Given the description of an element on the screen output the (x, y) to click on. 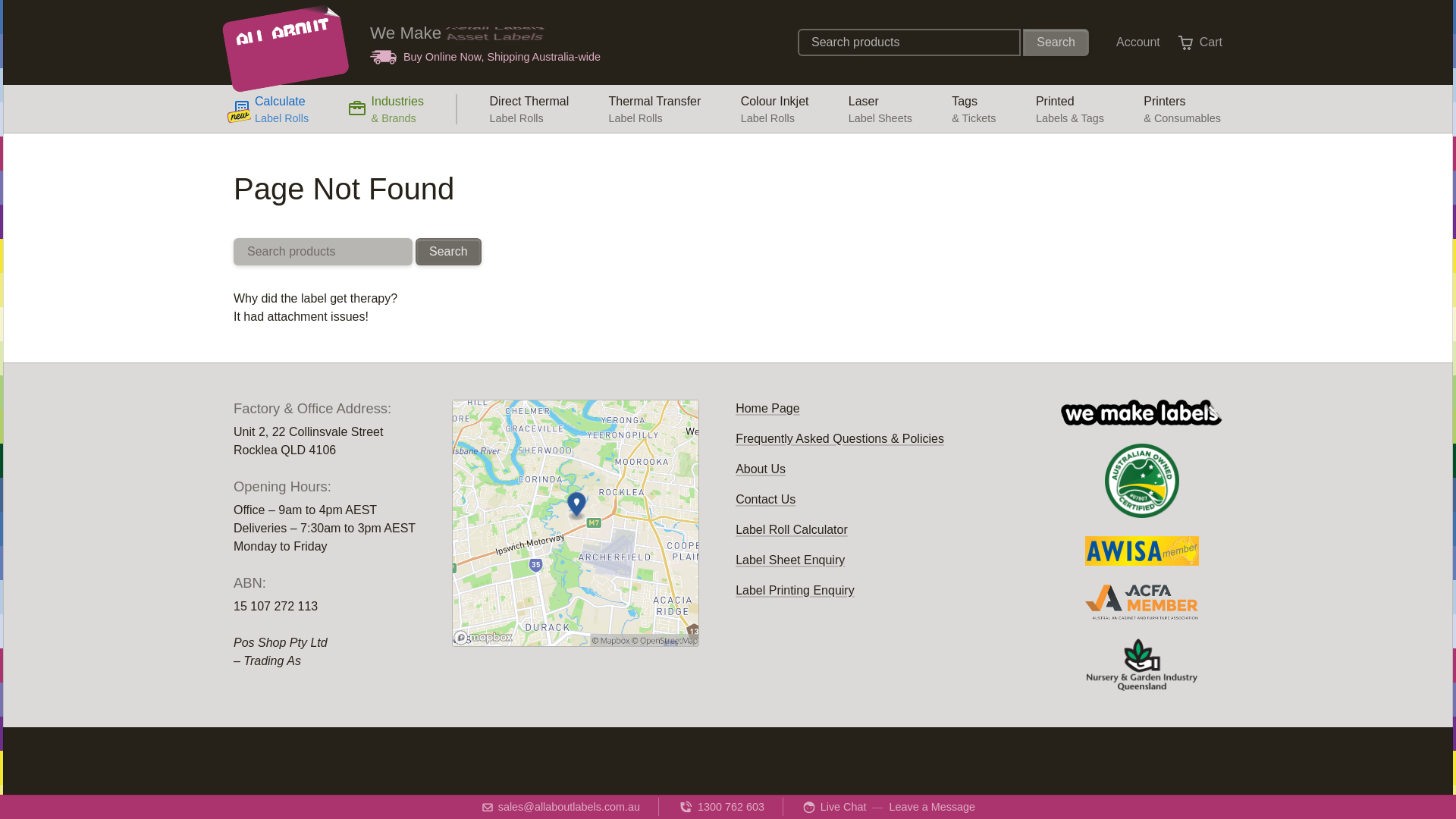
Cart (1200, 42)
Buy Online Now, Shipping Australia-wide (484, 56)
Account (271, 109)
Search (1134, 42)
